Given the description of an element on the screen output the (x, y) to click on. 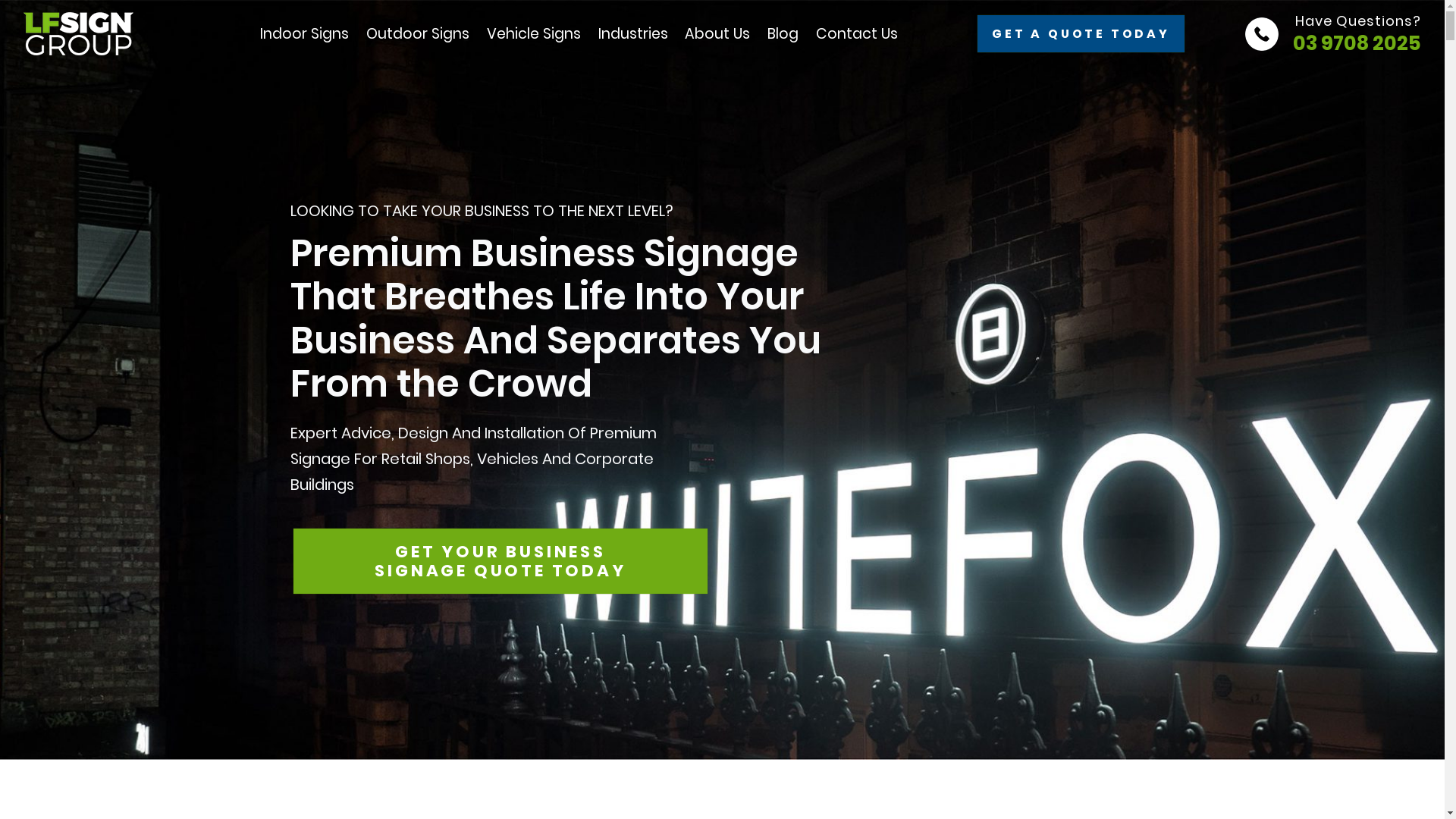
Outdoor Signs Element type: text (417, 33)
03 9708 2025 Element type: text (1356, 43)
Blog Element type: text (782, 33)
Industries Element type: text (633, 33)
Indoor Signs Element type: text (304, 33)
Contact Us Element type: text (856, 33)
GET A QUOTE TODAY Element type: text (1080, 33)
About Us Element type: text (716, 33)
GET YOUR BUSINESS
SIGNAGE QUOTE TODAY Element type: text (499, 561)
Vehicle Signs Element type: text (533, 33)
